Given the description of an element on the screen output the (x, y) to click on. 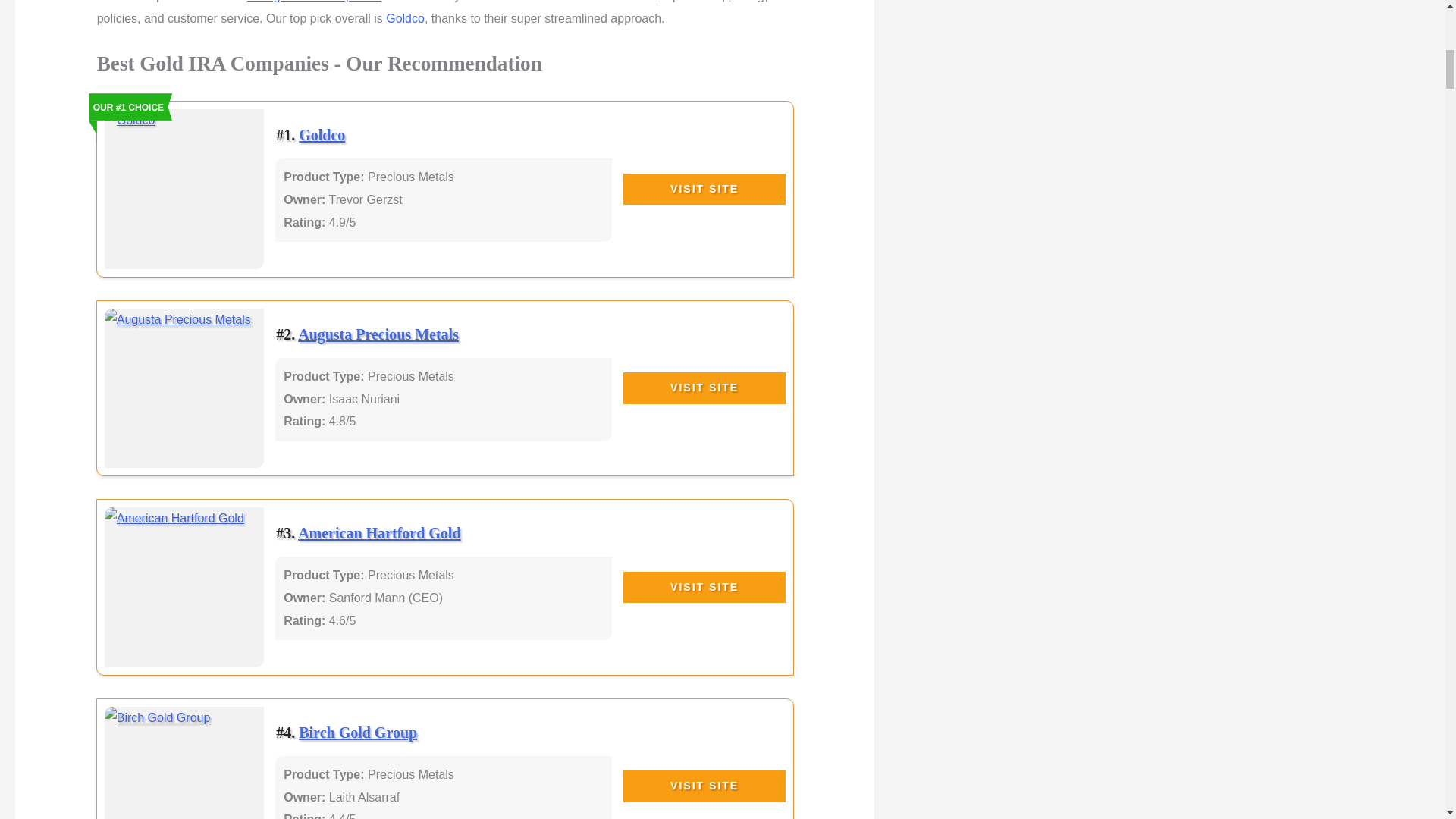
Augusta Precious Metals (378, 334)
Goldco (321, 134)
Birch Gold Group (184, 762)
Augusta Precious Metals (184, 388)
VISIT SITE (703, 786)
Goldco (405, 18)
American Hartford Gold (379, 532)
best gold IRA companies (314, 1)
American Hartford Gold (184, 586)
Augusta Precious Metals (378, 334)
VISIT SITE (703, 388)
VISIT SITE (703, 189)
Birch Gold Group (357, 732)
Goldco (321, 134)
Goldco (184, 188)
